Given the description of an element on the screen output the (x, y) to click on. 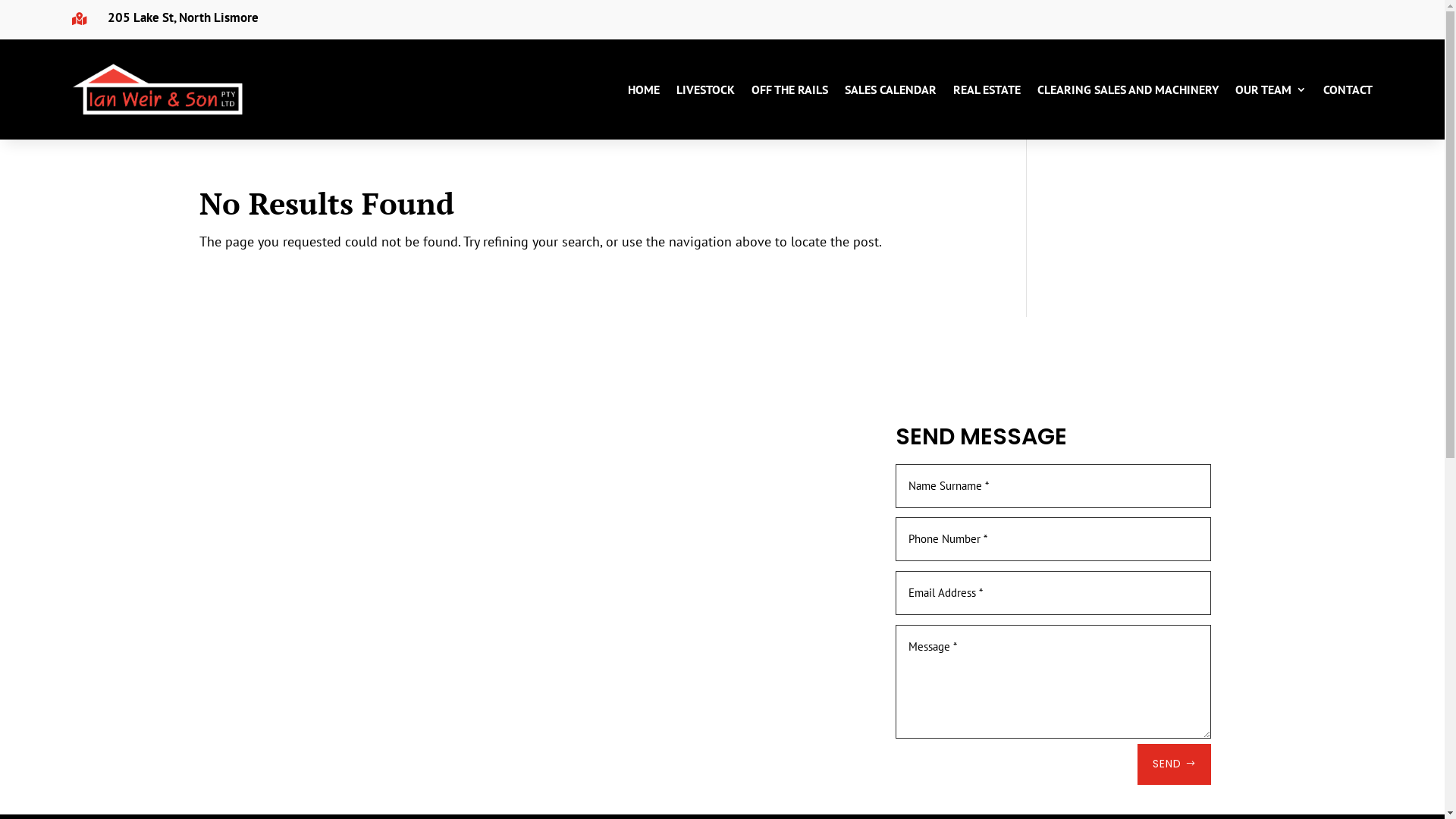
OFF THE RAILS Element type: text (789, 89)
HOME Element type: text (643, 89)
SALES CALENDAR Element type: text (890, 89)
OUR TEAM Element type: text (1270, 89)
SEND Element type: text (1174, 763)
LIVESTOCK Element type: text (705, 89)
REAL ESTATE Element type: text (986, 89)
CONTACT Element type: text (1347, 89)
CLEARING SALES AND MACHINERY Element type: text (1127, 89)
